Given the description of an element on the screen output the (x, y) to click on. 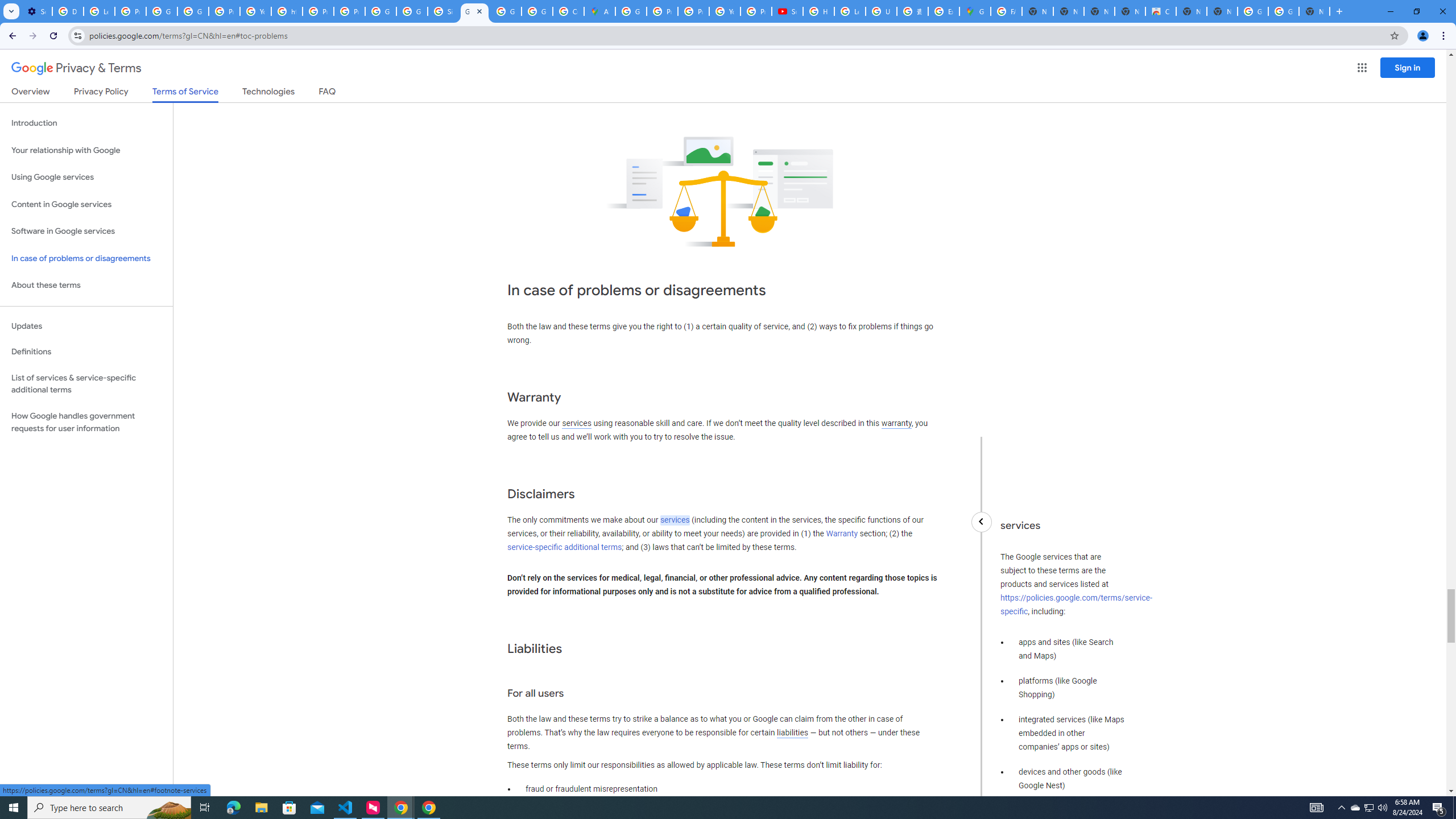
Privacy Help Center - Policies Help (693, 11)
Settings - On startup (36, 11)
Delete photos & videos - Computer - Google Photos Help (67, 11)
YouTube (724, 11)
Explore new street-level details - Google Maps Help (943, 11)
Create your Google Account (568, 11)
